Given the description of an element on the screen output the (x, y) to click on. 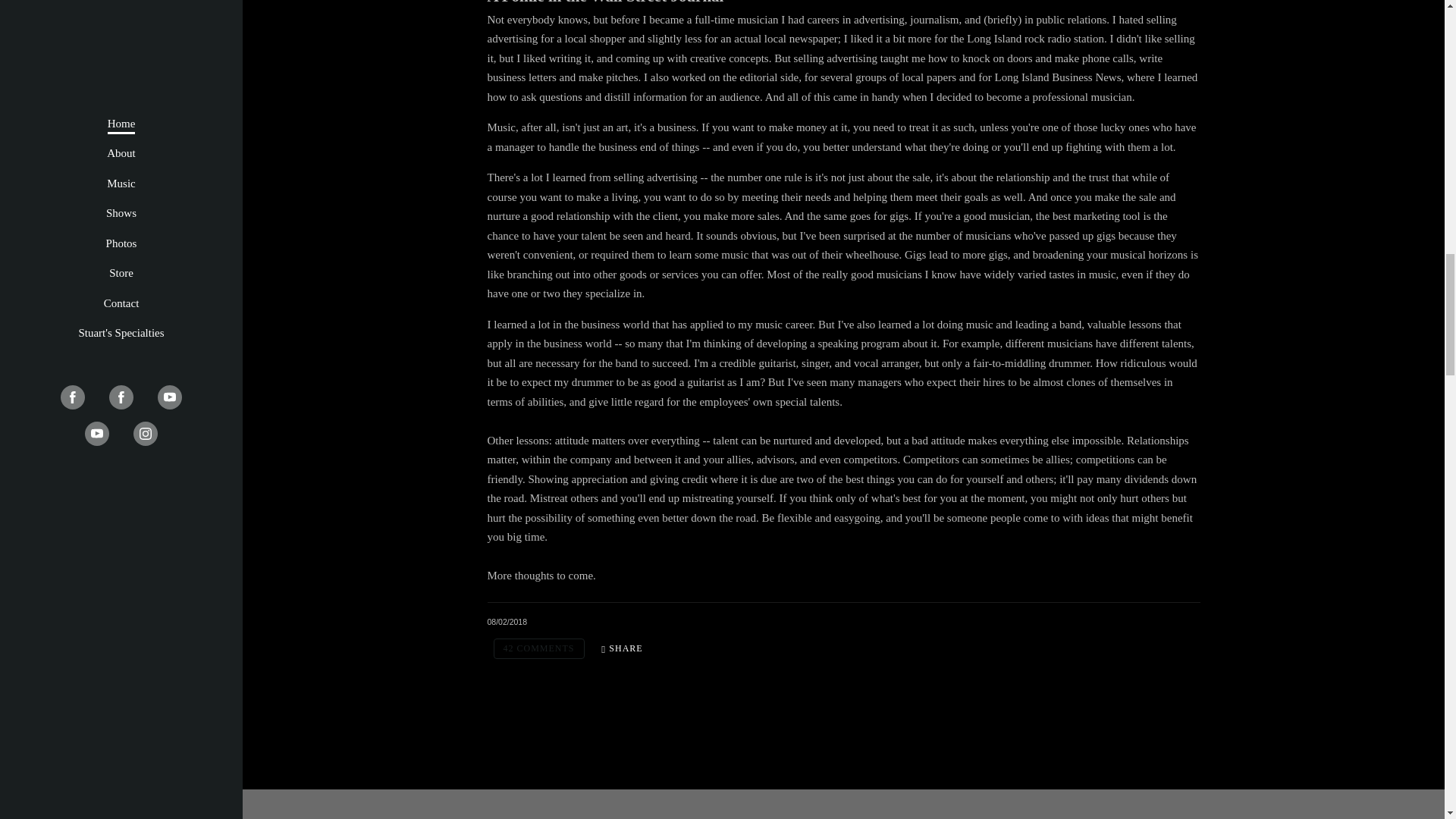
42 comments (538, 648)
Share A Folkie in the Wall Street Journal? (622, 648)
August 02, 2018 01:21 (506, 621)
42 COMMENTS (538, 648)
SHARE (622, 648)
